Given the description of an element on the screen output the (x, y) to click on. 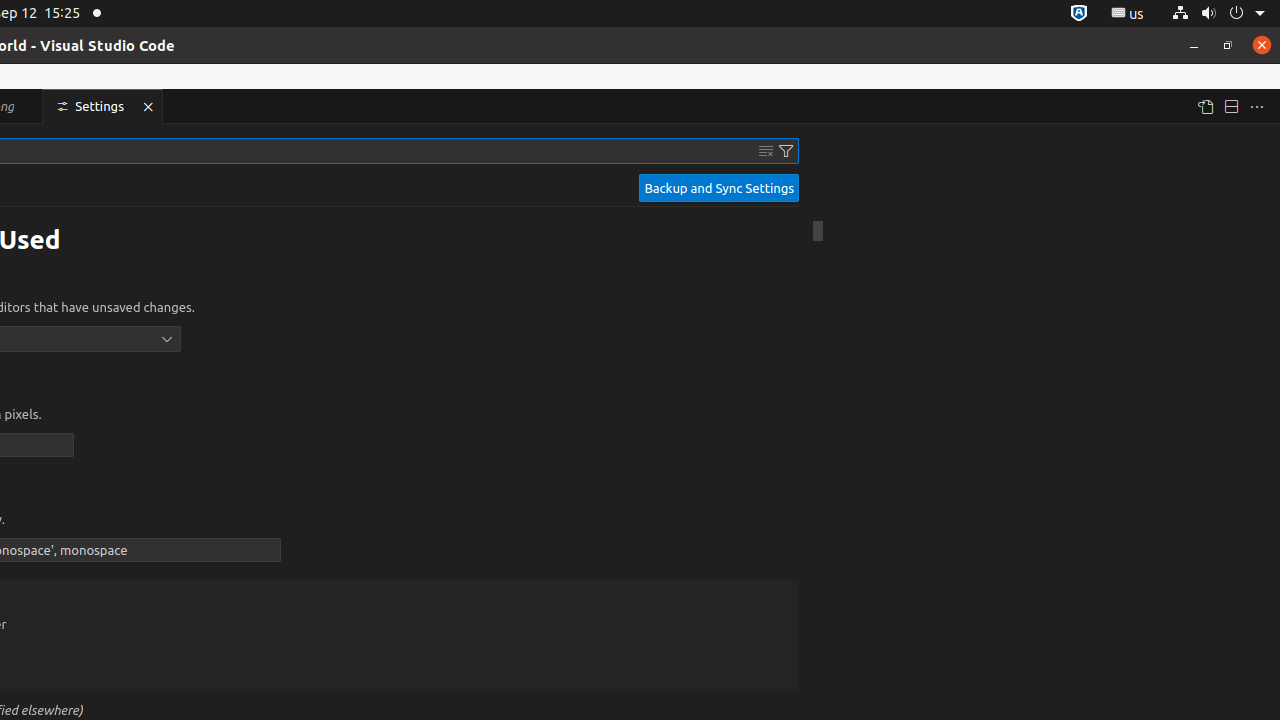
Filter Settings Element type: push-button (786, 151)
Close (Ctrl+W) Element type: push-button (148, 106)
Clear Settings Search Input Element type: push-button (766, 151)
Backup and Sync Settings Element type: push-button (719, 188)
Split Editor Right (Ctrl+\) [Alt] Split Editor Down Element type: push-button (1231, 106)
